Given the description of an element on the screen output the (x, y) to click on. 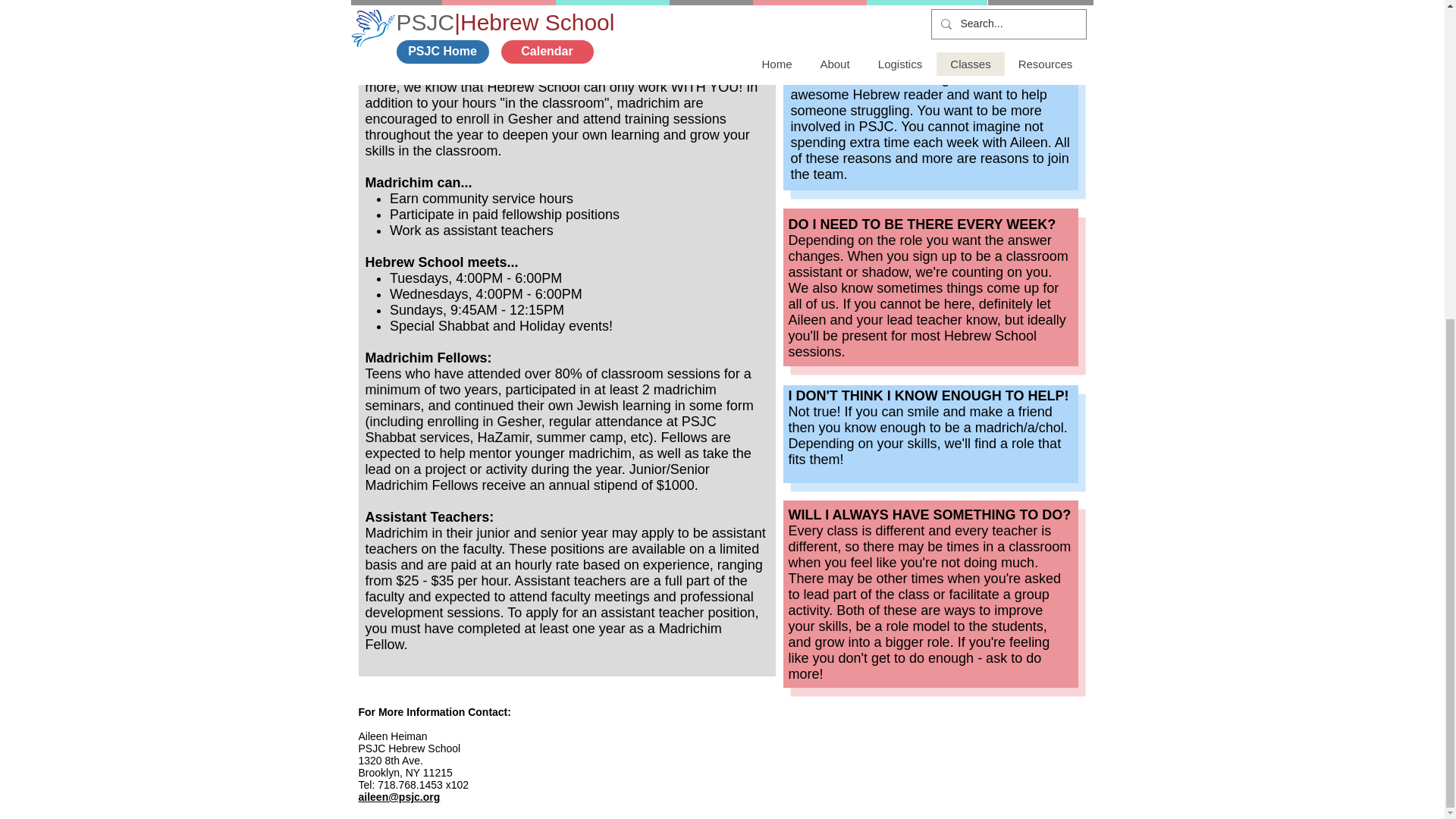
Apply to Madrichim Team (930, 4)
